Given the description of an element on the screen output the (x, y) to click on. 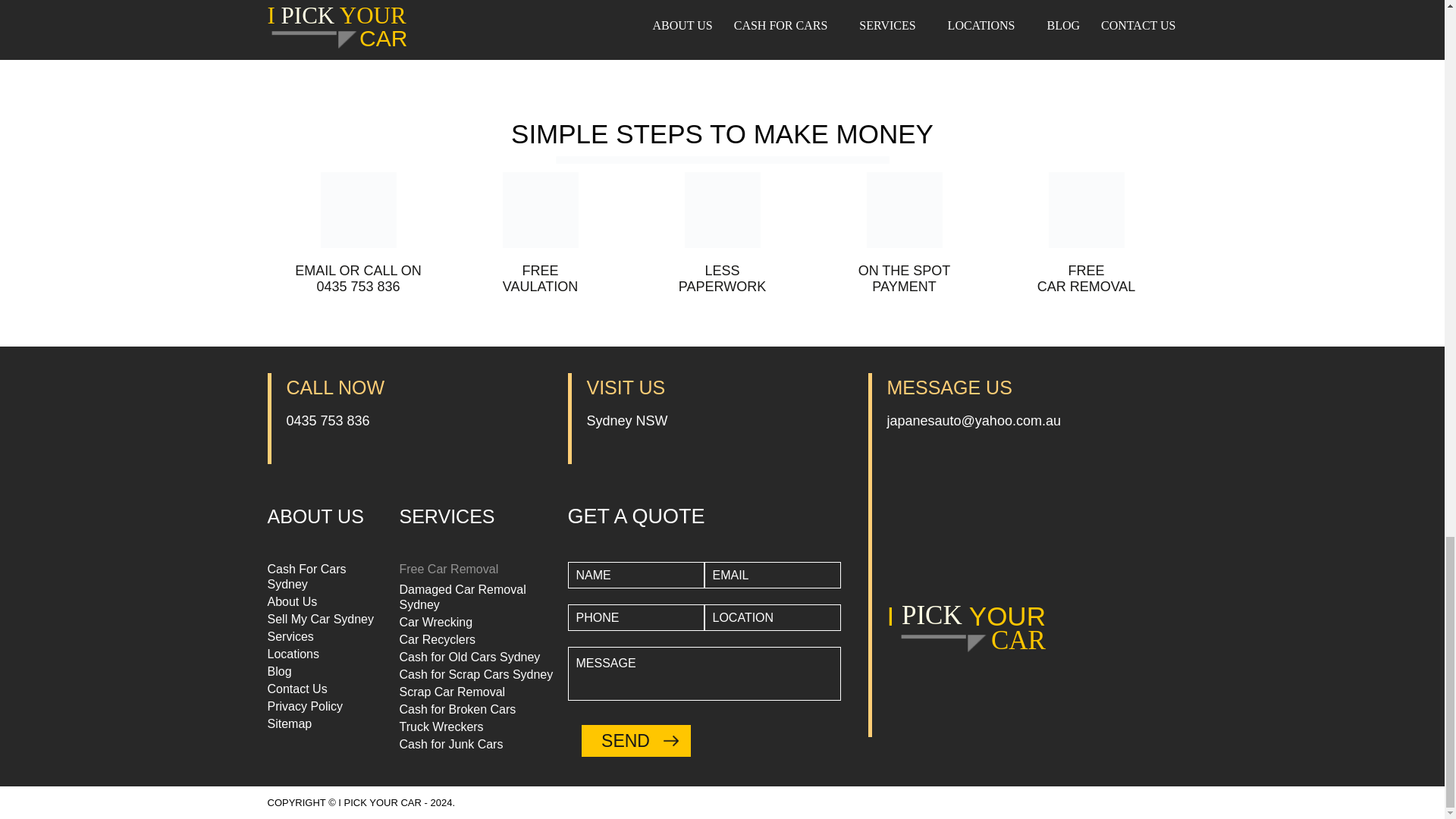
Send (635, 740)
